Given the description of an element on the screen output the (x, y) to click on. 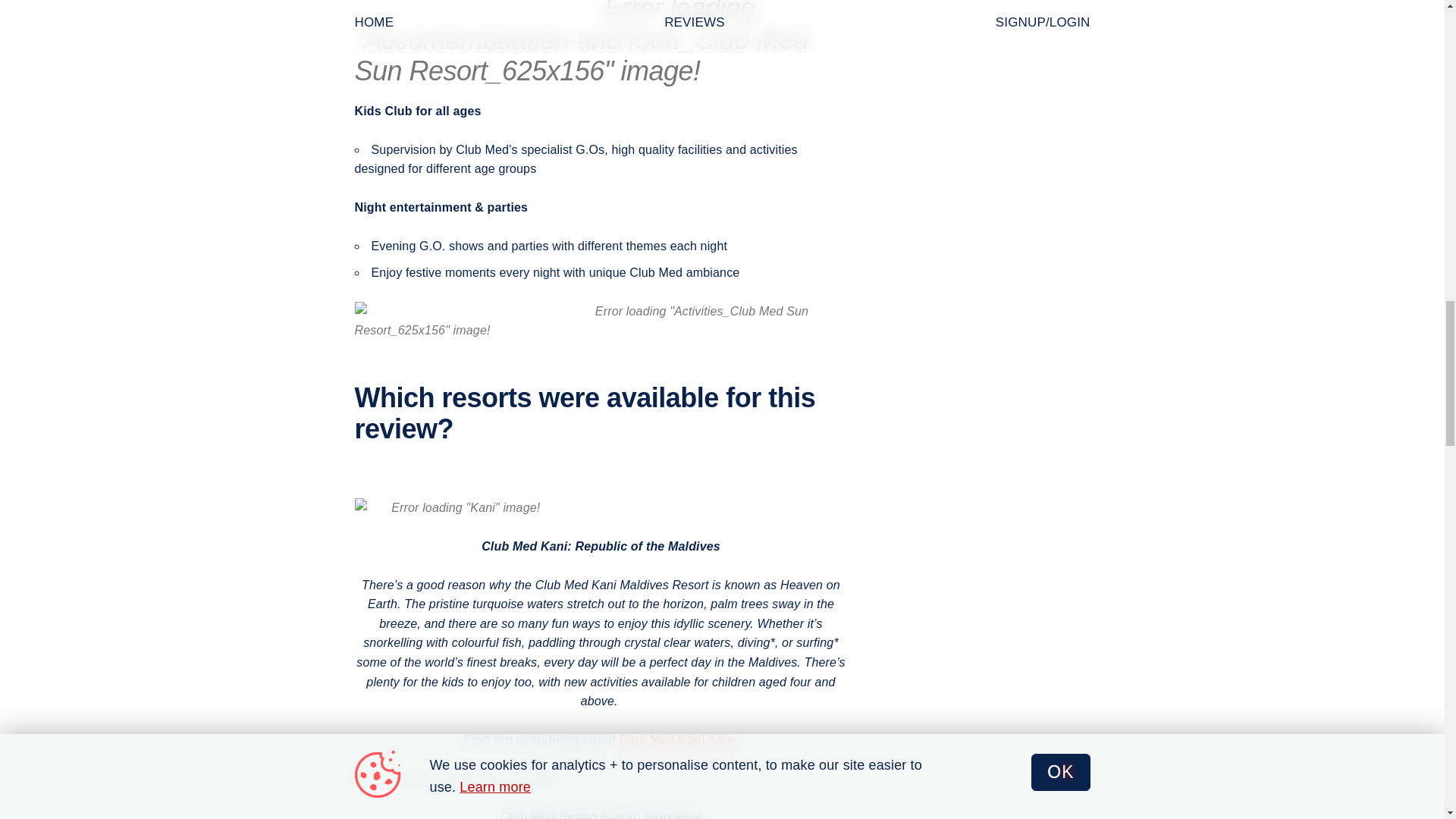
Club Med Kani here. (679, 738)
